Given the description of an element on the screen output the (x, y) to click on. 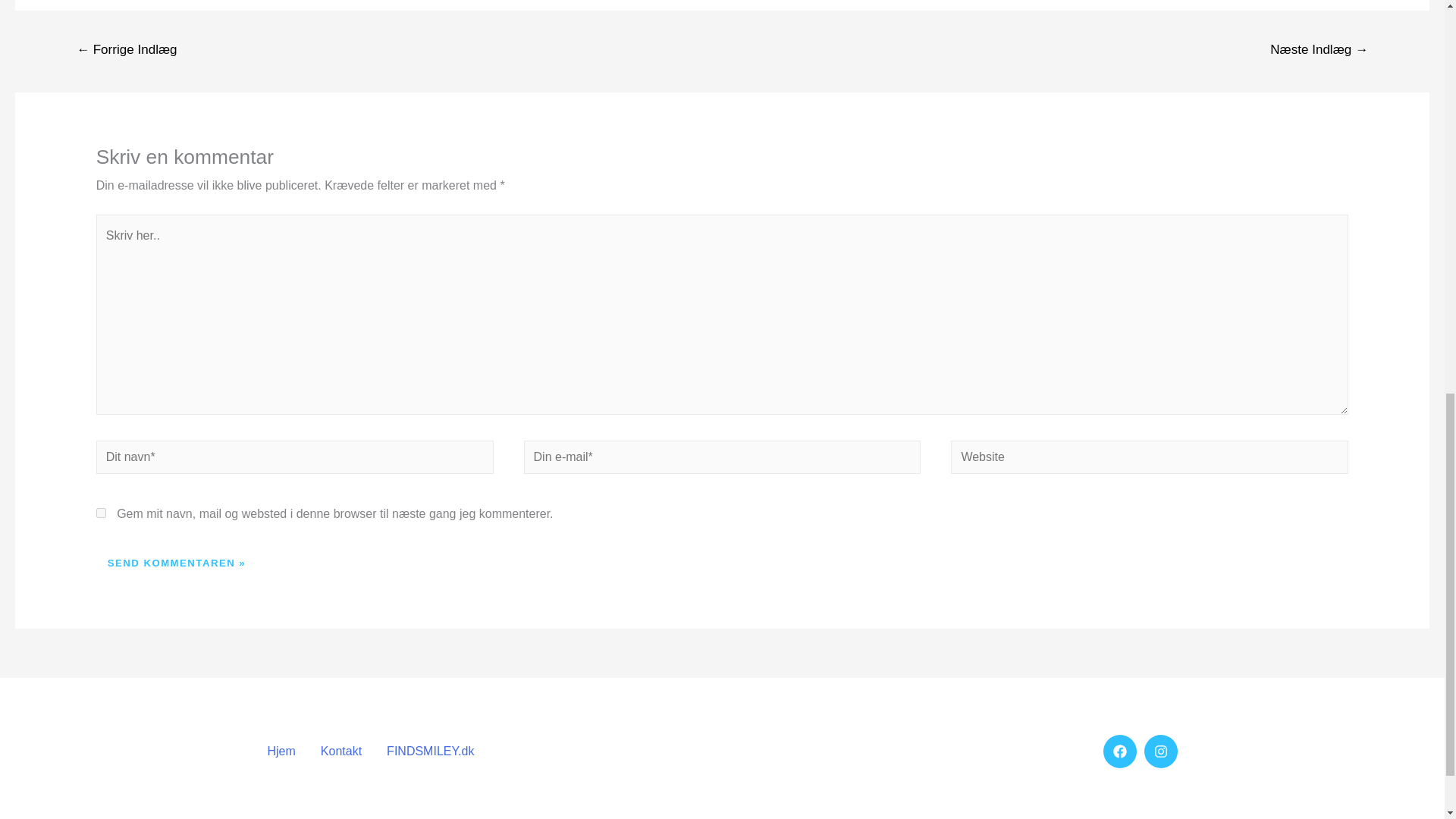
FINDSMILEY.dk (436, 751)
Kontakt (347, 751)
Hjem (290, 751)
yes (101, 512)
